Given the description of an element on the screen output the (x, y) to click on. 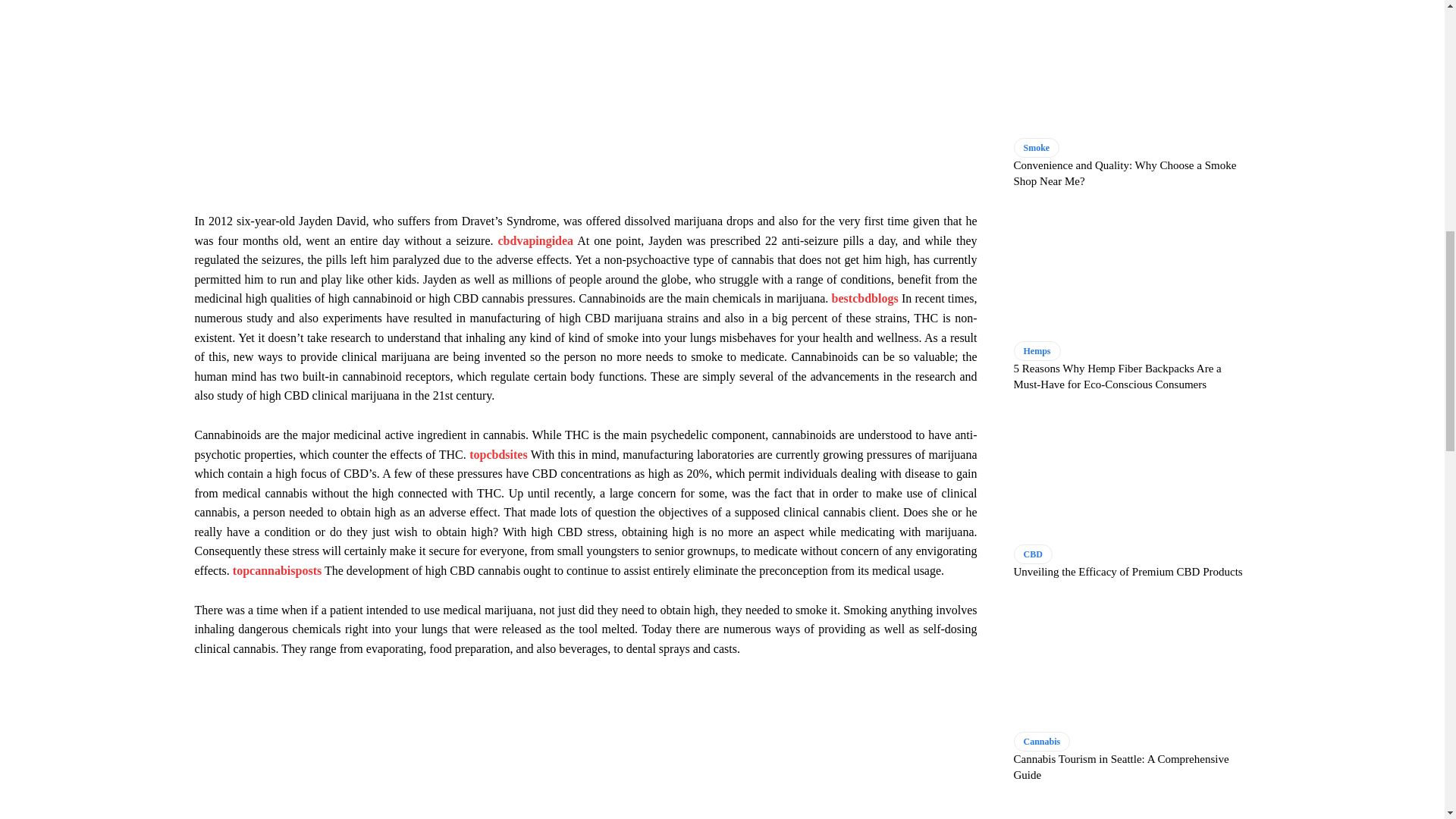
Convenience and Quality: Why Choose a Smoke Shop Near Me? (1131, 68)
topcbdsites (497, 453)
cbdvapingidea (535, 240)
bestcbdblogs (864, 297)
Convenience and Quality: Why Choose a Smoke Shop Near Me? (1124, 172)
